Given the description of an element on the screen output the (x, y) to click on. 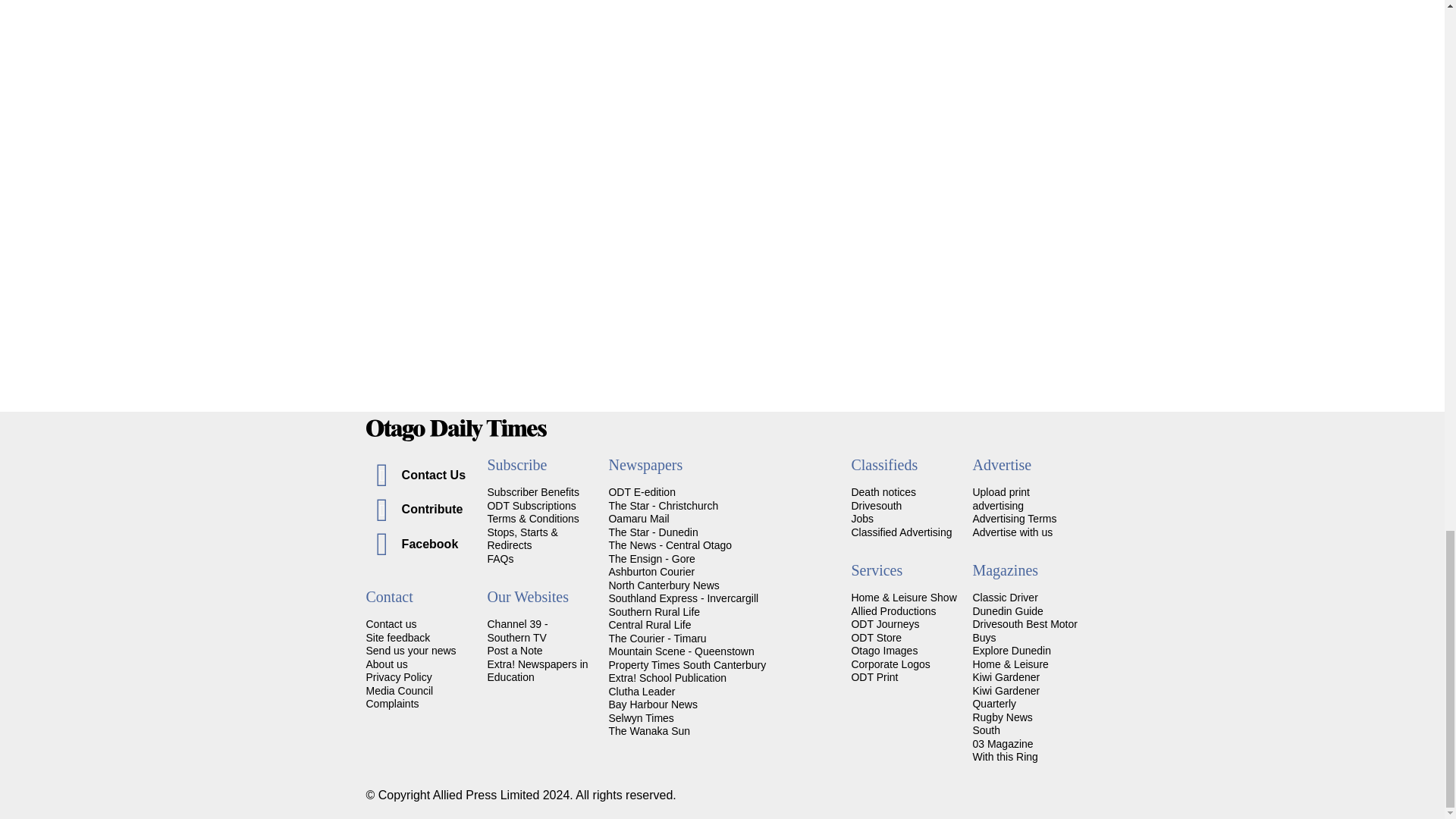
Let us know what you think (397, 637)
Get the ODT delivered right to you! (532, 491)
Get in touch (390, 623)
Ways to subscribe to the Otago Daily Times (530, 505)
Home (721, 430)
Send us your news and photos. (410, 650)
